Given the description of an element on the screen output the (x, y) to click on. 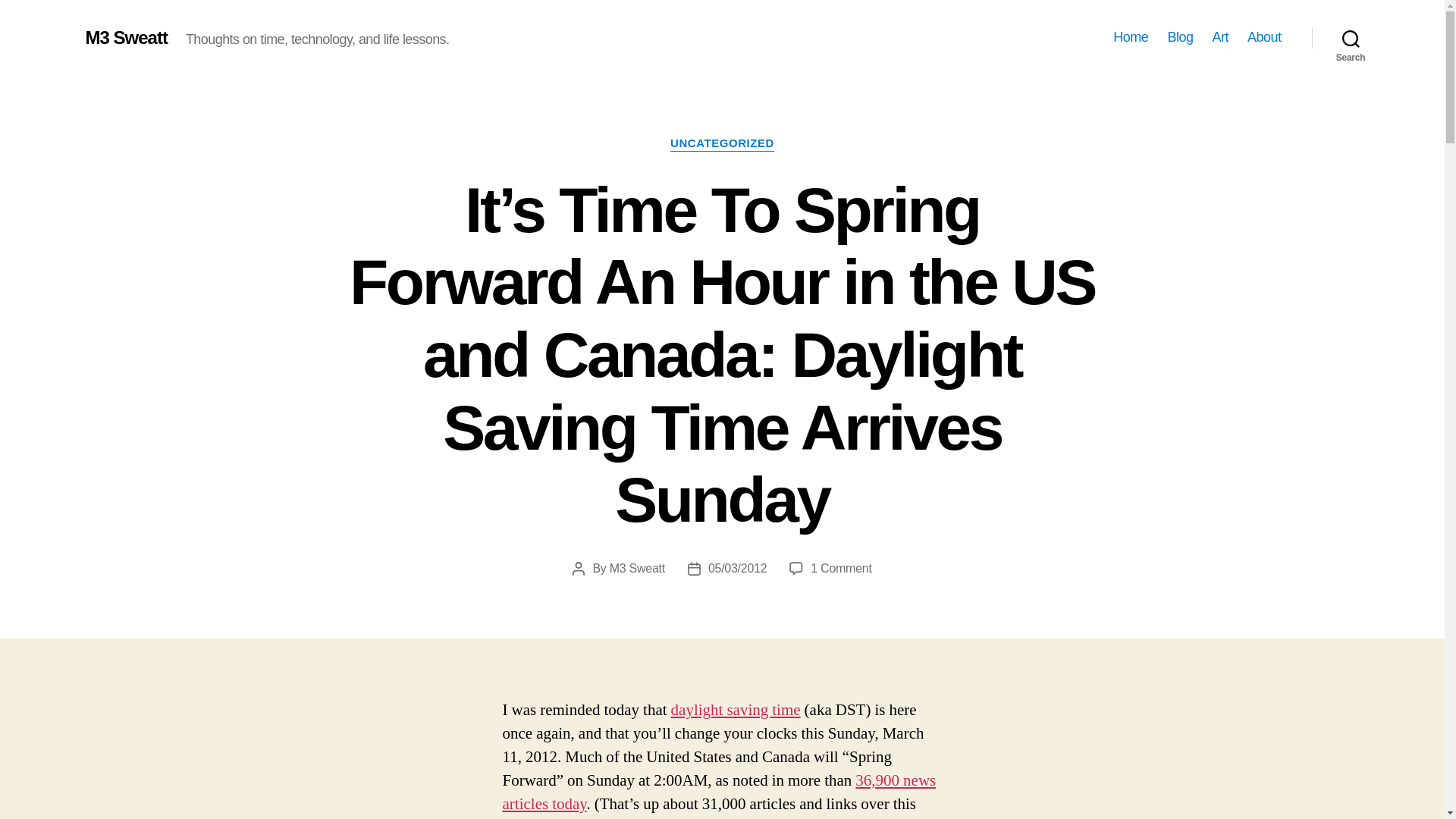
Search (1350, 37)
Art (1219, 37)
M3 Sweatt (637, 567)
About (1264, 37)
36,900 news articles today (719, 792)
Home (1130, 37)
Blog (1179, 37)
UNCATEGORIZED (721, 143)
M3 Sweatt (125, 37)
daylight saving time (735, 710)
